Given the description of an element on the screen output the (x, y) to click on. 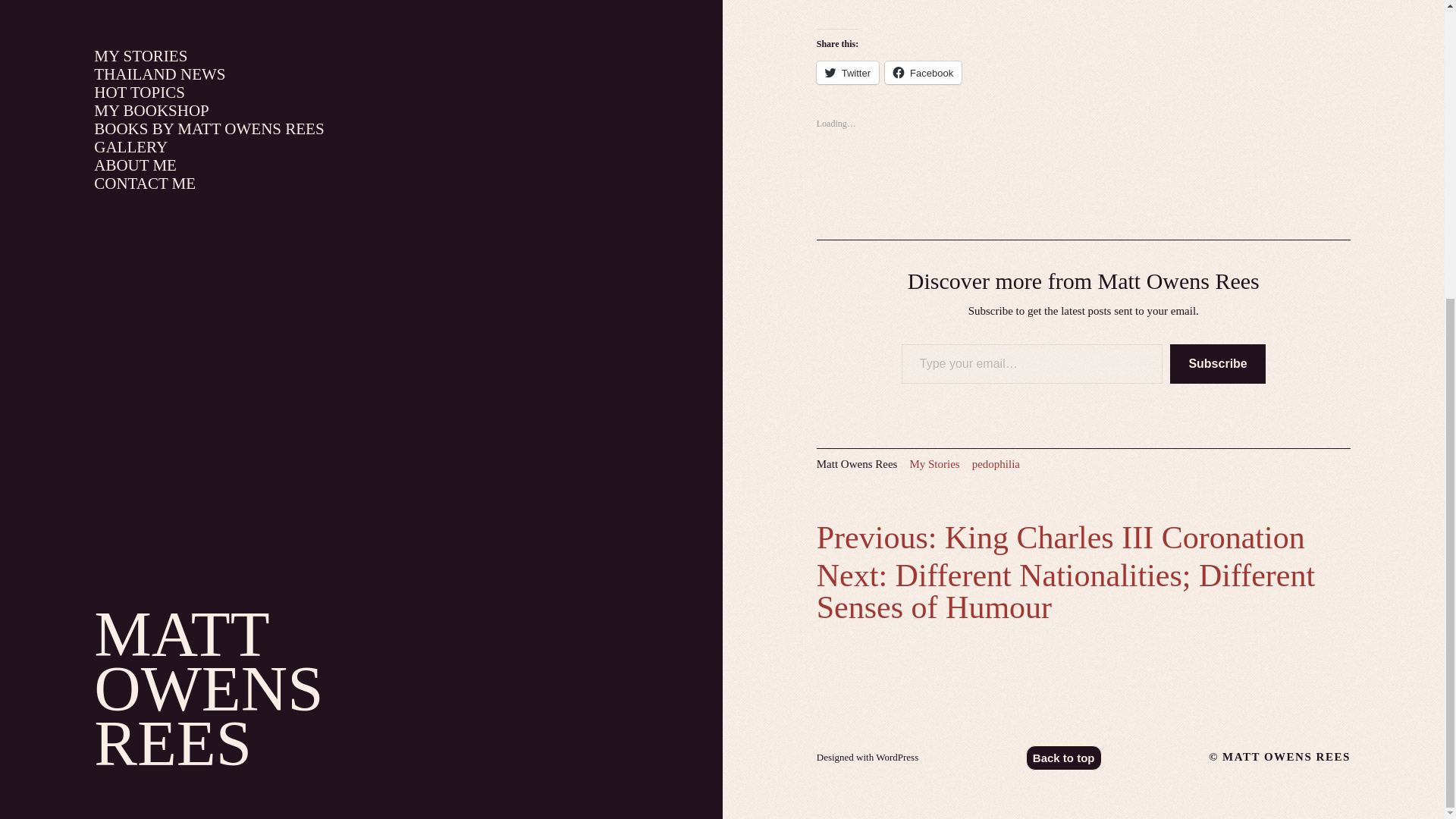
Next: Different Nationalities; Different Senses of Humour (1065, 590)
Back to top (1064, 757)
Click to share on Facebook (922, 72)
Facebook (922, 72)
Previous: King Charles III Coronation (1060, 537)
WordPress (897, 756)
Twitter (847, 72)
pedophilia (996, 463)
Subscribe (1217, 363)
Click to share on Twitter (847, 72)
